Given the description of an element on the screen output the (x, y) to click on. 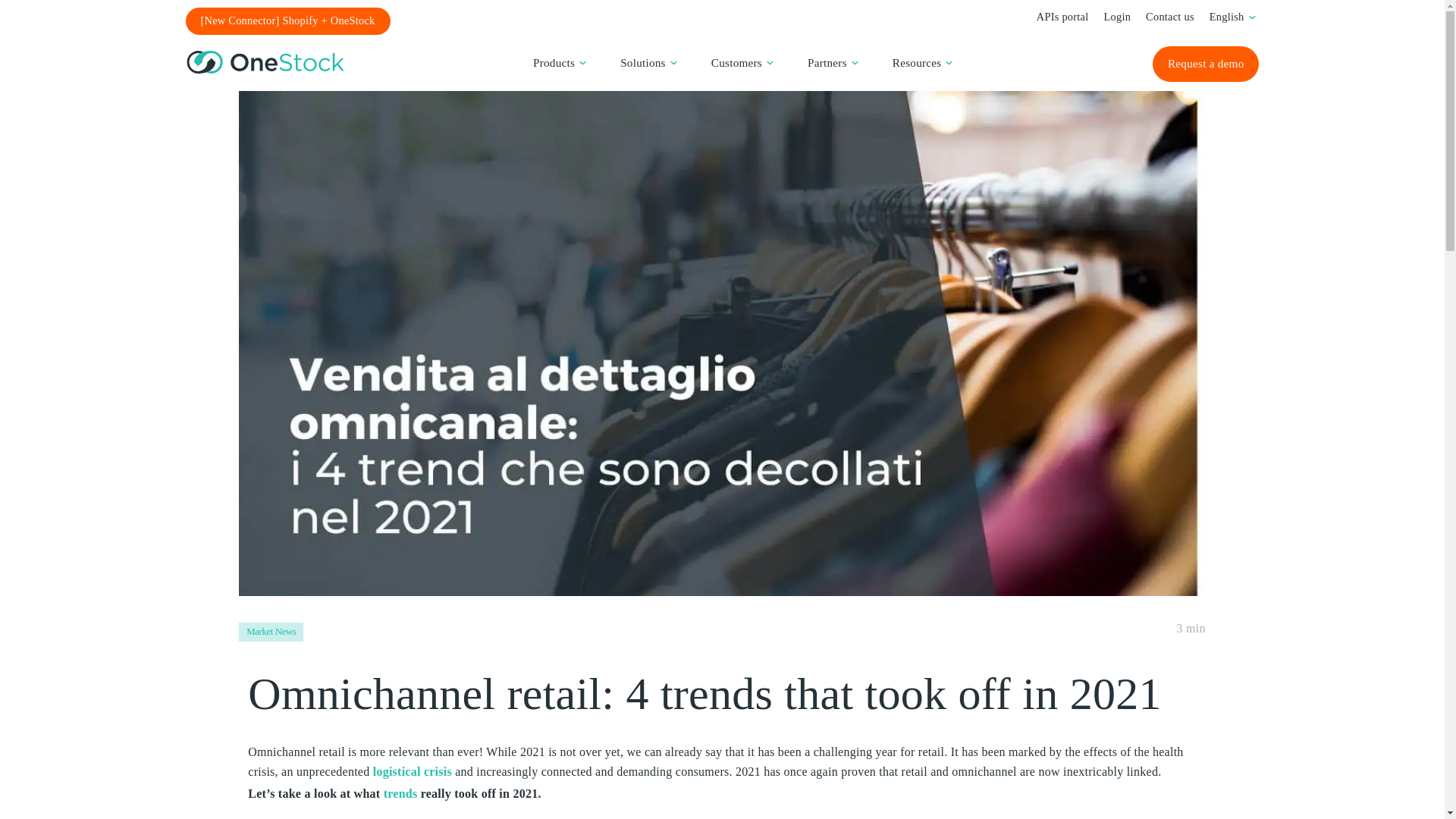
APIs portal (1062, 16)
Contact us (1169, 16)
English (1226, 17)
Solutions (642, 62)
Login (1117, 16)
Products (553, 62)
English (1226, 17)
